Given the description of an element on the screen output the (x, y) to click on. 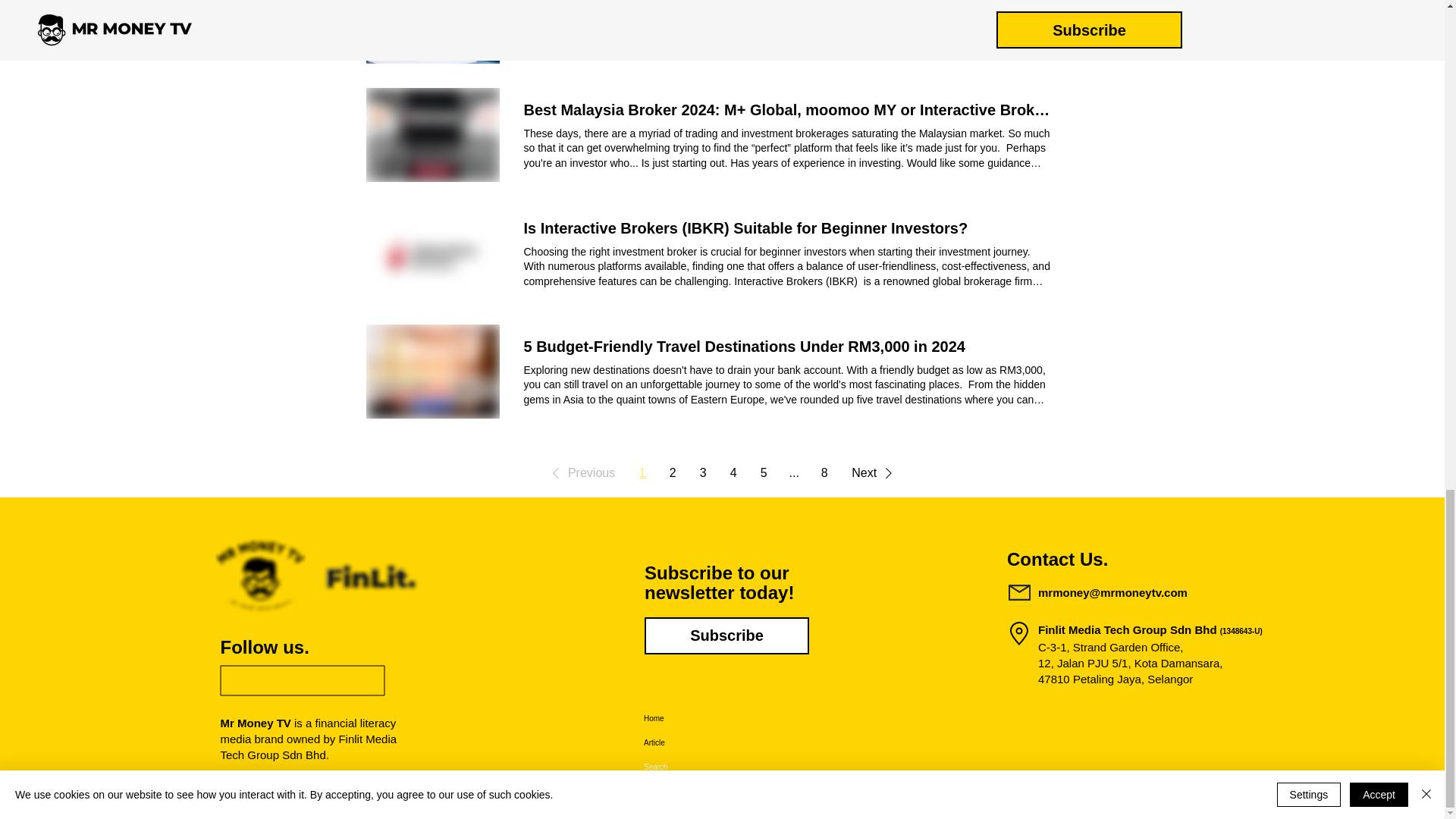
What to do if you get laid off? (629, 1)
3 (702, 473)
5 (763, 473)
Previous (580, 472)
5 Budget-Friendly Travel Destinations Under RM3,000 in 2024 (742, 346)
8 (823, 473)
2 (672, 473)
4 (732, 473)
Next (874, 472)
What to do if you get laid off? (432, 31)
What to do if you get laid off? (629, 1)
